Given the description of an element on the screen output the (x, y) to click on. 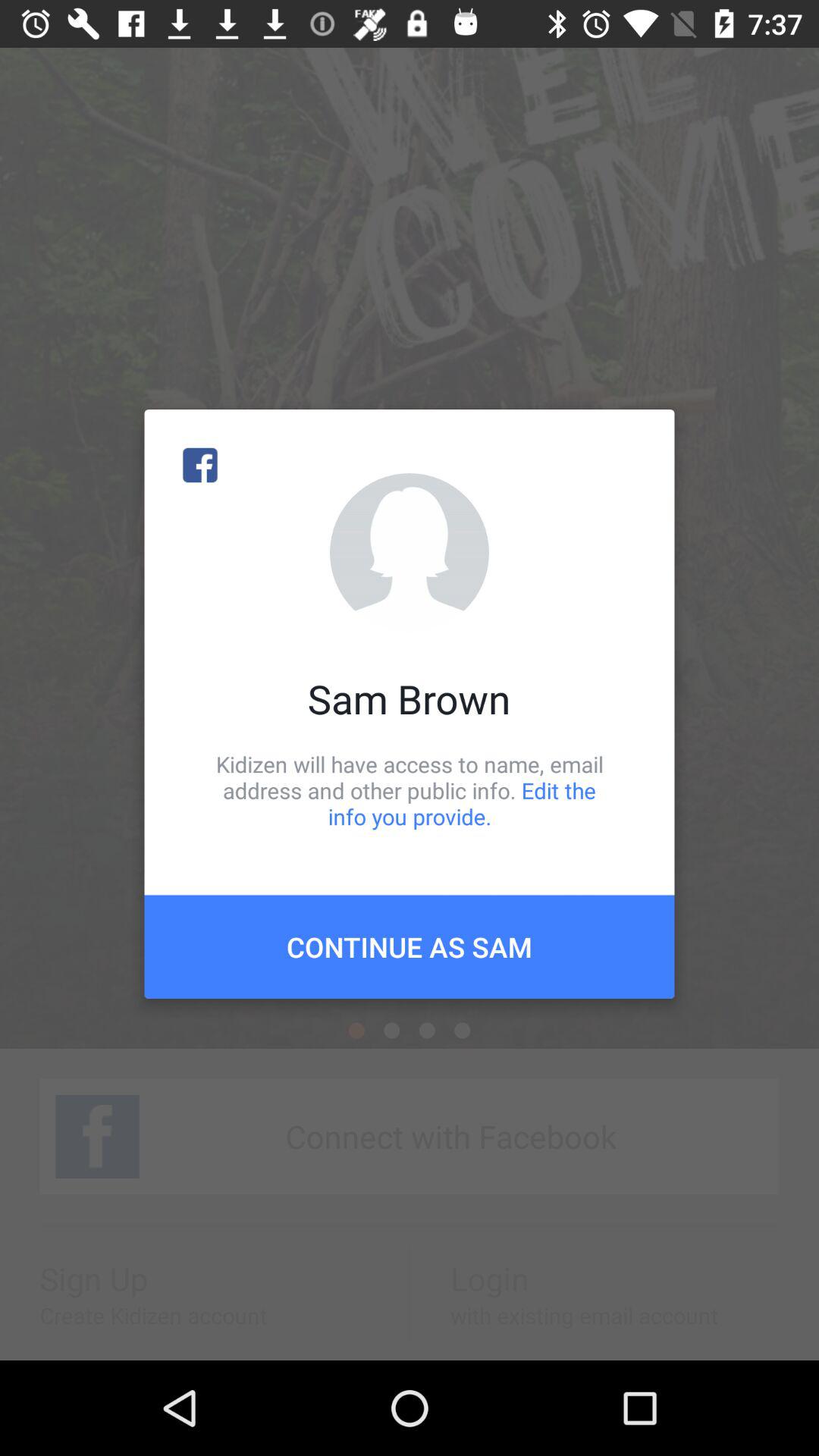
swipe until kidizen will have icon (409, 790)
